Given the description of an element on the screen output the (x, y) to click on. 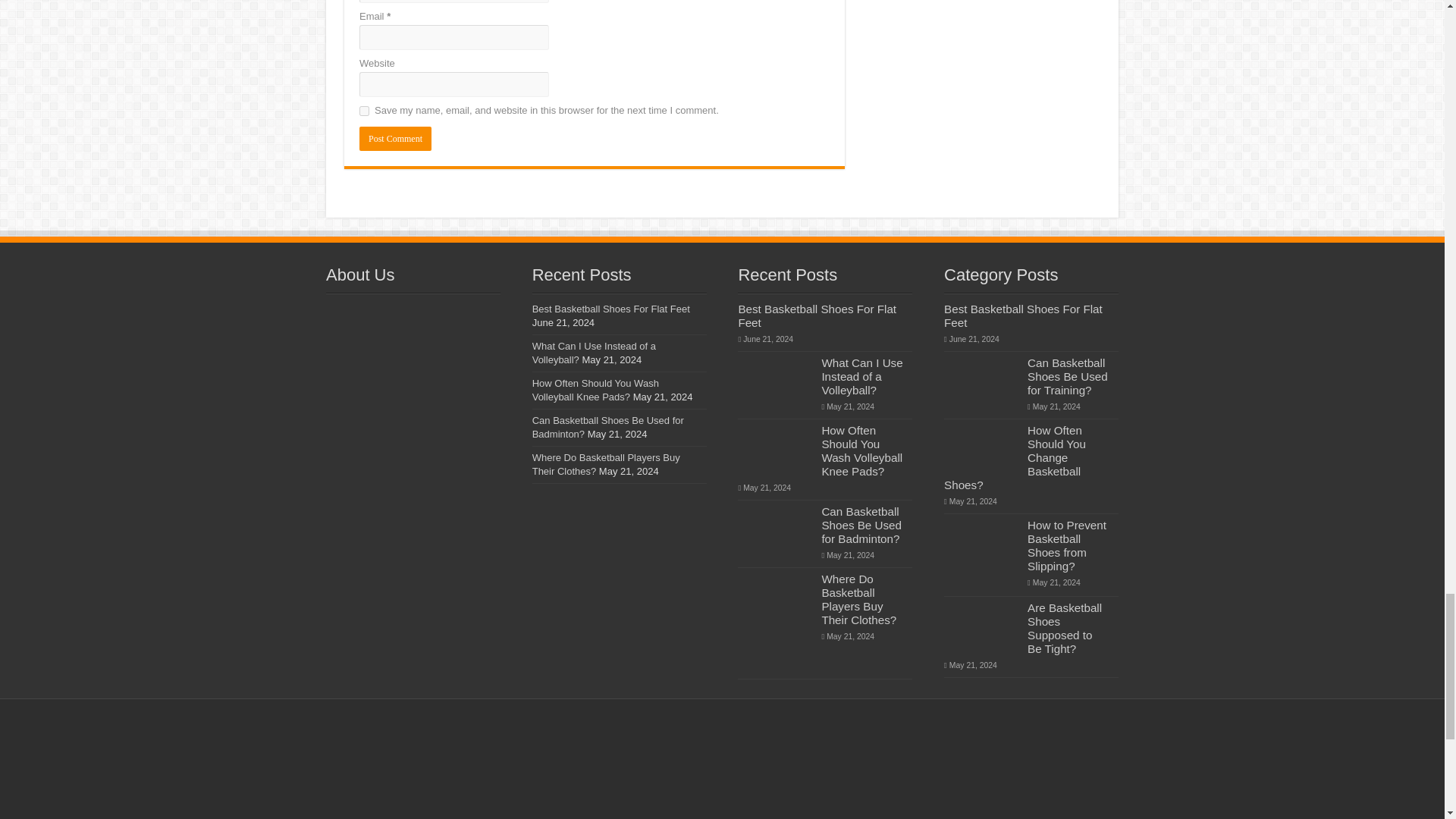
Post Comment (394, 138)
Post Comment (394, 138)
yes (364, 111)
